Given the description of an element on the screen output the (x, y) to click on. 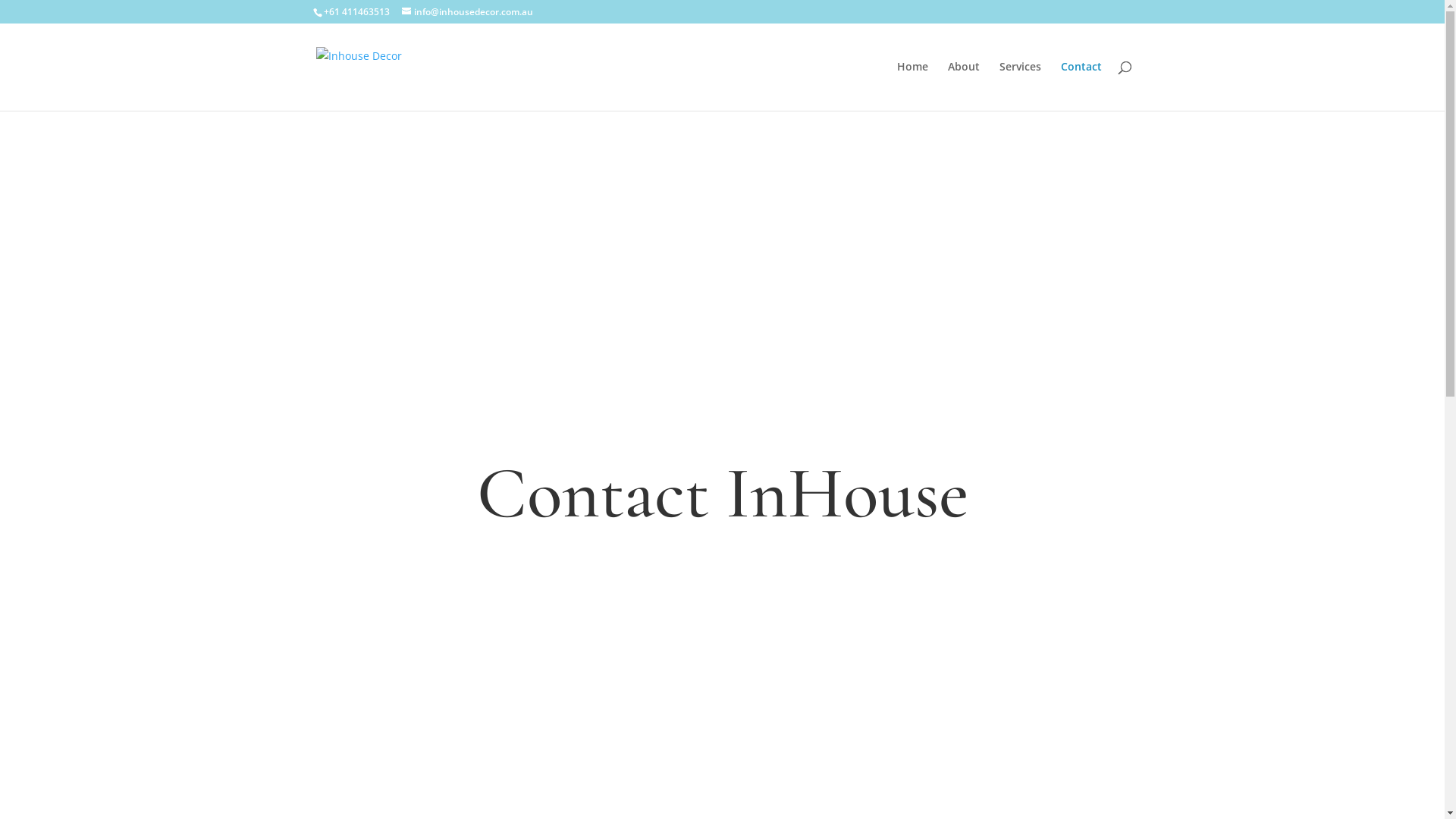
Contact Element type: text (1080, 85)
About Element type: text (963, 85)
info@inhousedecor.com.au Element type: text (467, 11)
Home Element type: text (911, 85)
Services Element type: text (1020, 85)
